Given the description of an element on the screen output the (x, y) to click on. 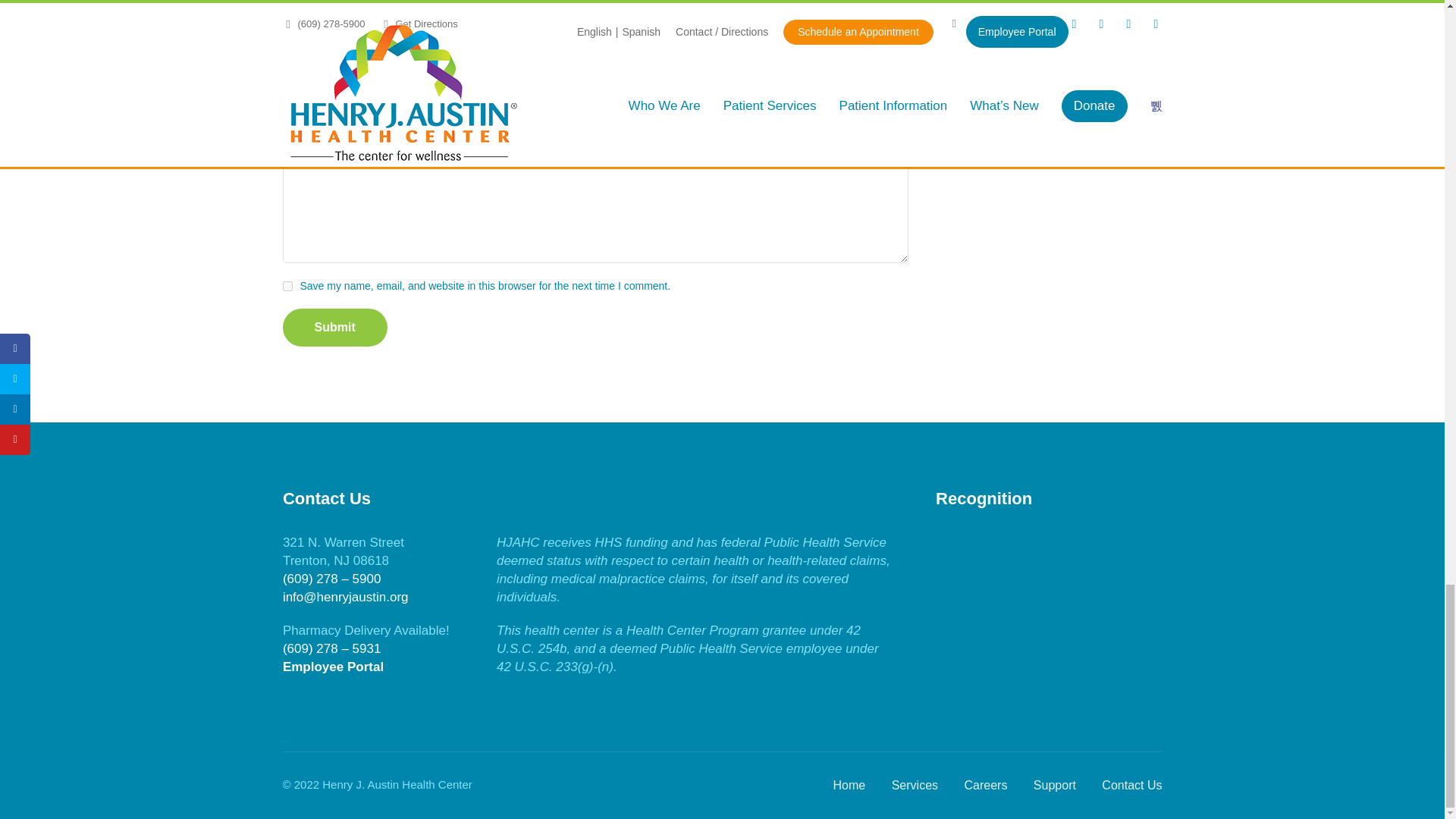
yes (287, 286)
